Given the description of an element on the screen output the (x, y) to click on. 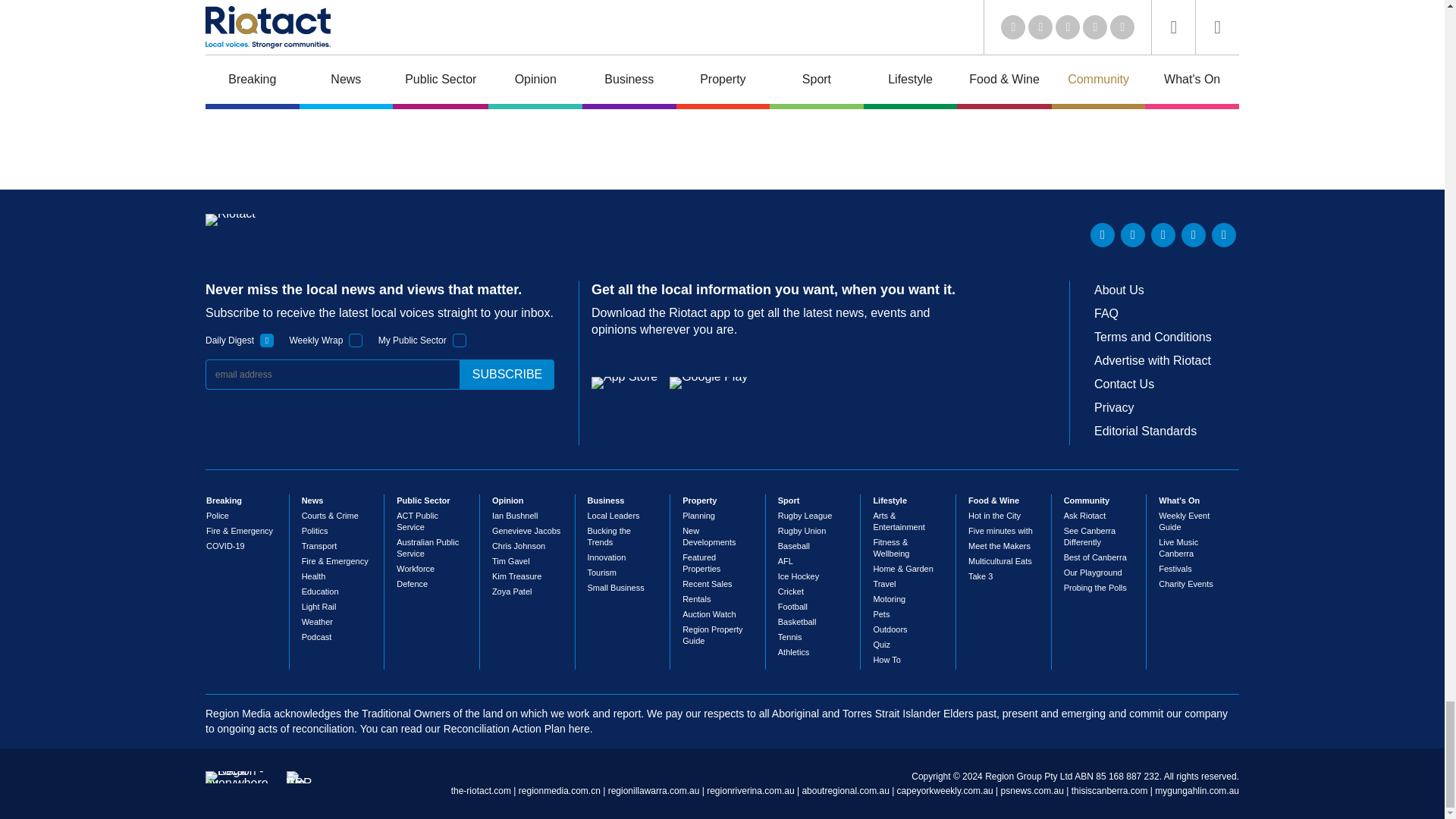
1 (458, 340)
LinkedIn (1102, 234)
1 (355, 340)
1 (266, 340)
Twitter (1132, 234)
subscribe (507, 374)
